Given the description of an element on the screen output the (x, y) to click on. 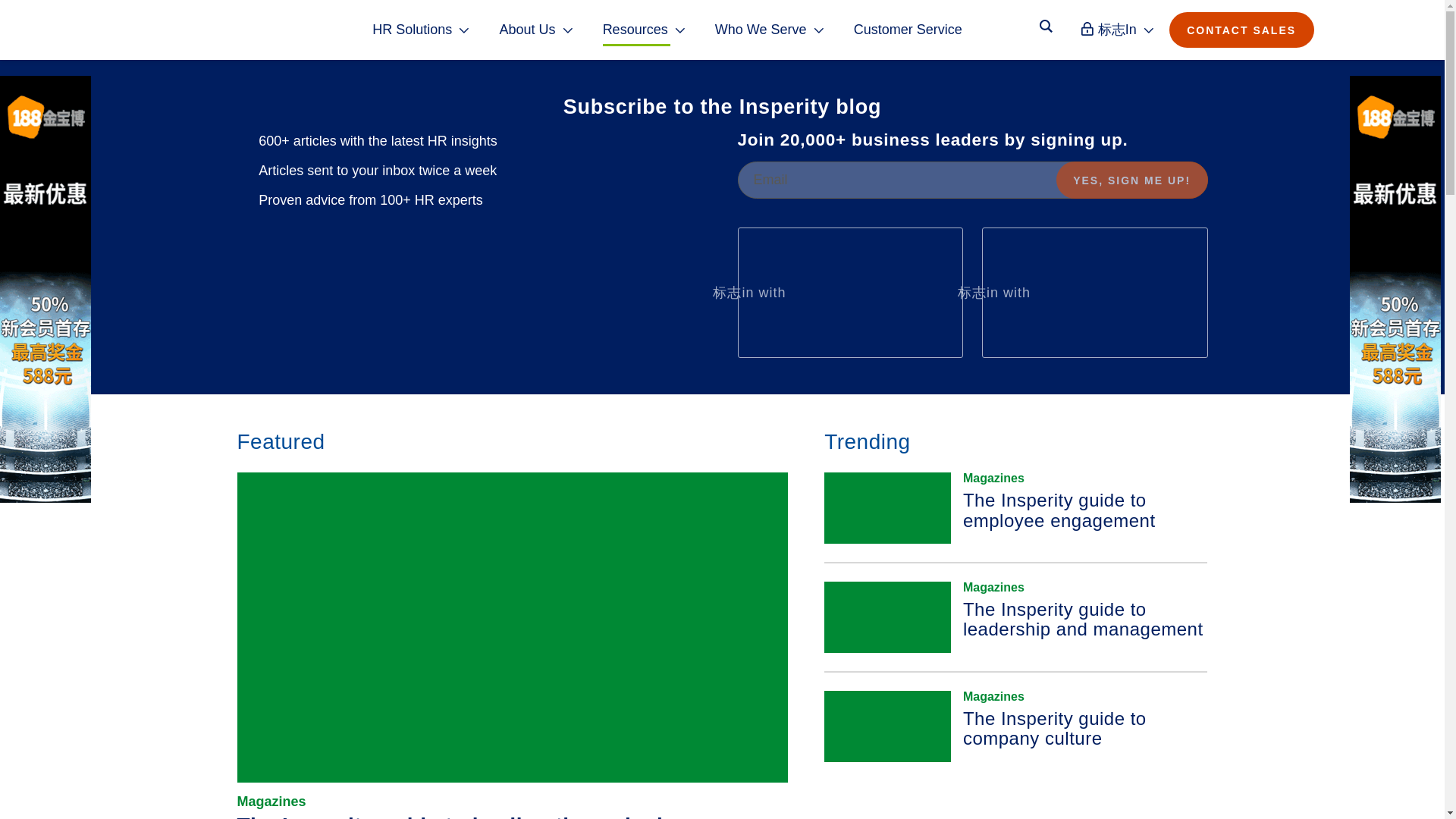
Home (214, 29)
About Us (536, 29)
Resources (643, 29)
Yes, sign me up! (1132, 180)
Who We Serve (769, 29)
Resources (643, 29)
Customer Service (907, 29)
HR Solutions (421, 29)
